Given the description of an element on the screen output the (x, y) to click on. 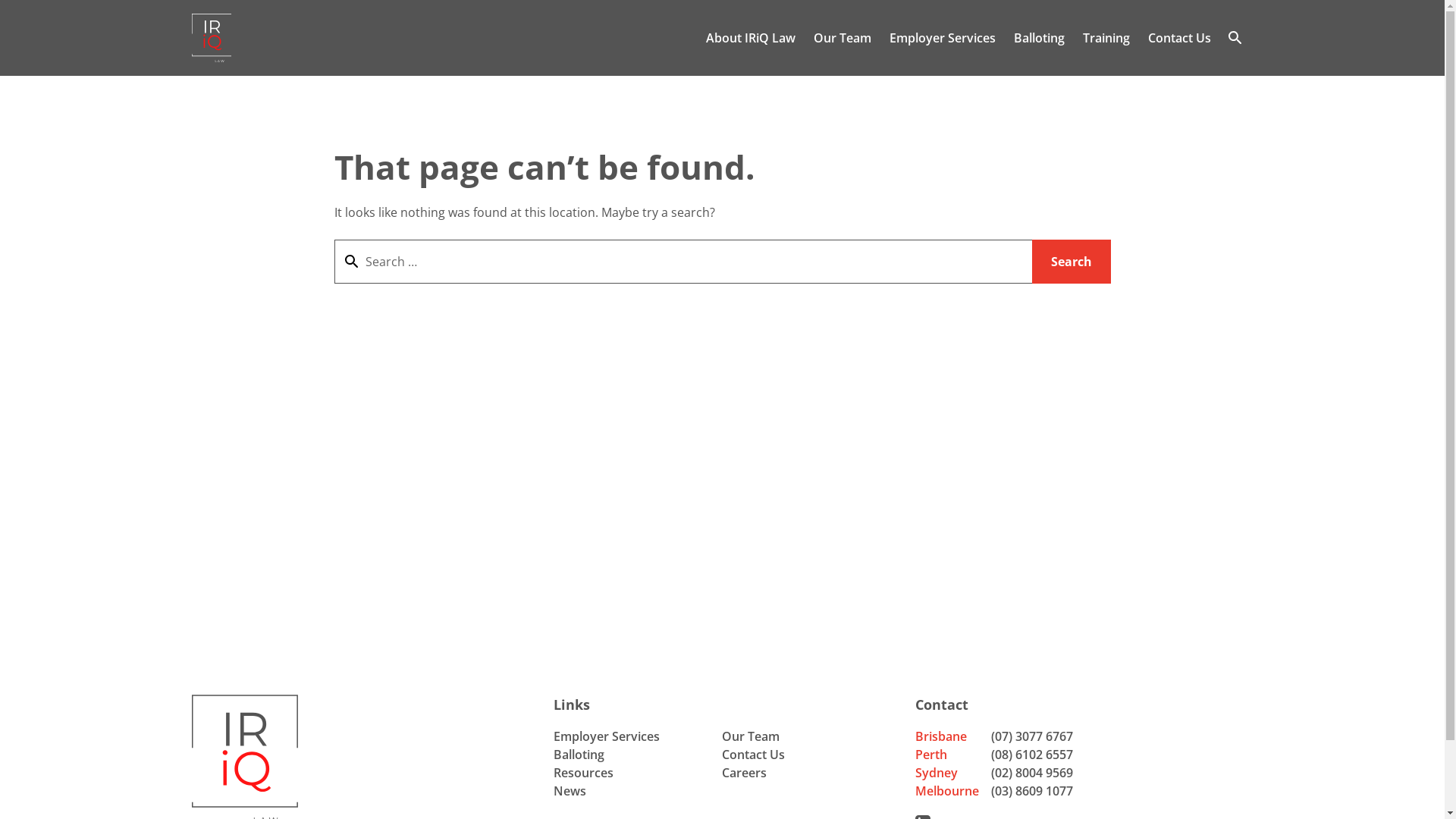
Training Element type: text (1105, 37)
Careers Element type: text (743, 772)
Our Team Element type: text (750, 736)
News Element type: text (569, 790)
Employer Services Element type: text (606, 736)
Balloting Element type: text (1038, 37)
Search Element type: text (1070, 261)
Our Team Element type: text (841, 37)
Employer Services Element type: text (941, 37)
About IRiQ Law Element type: text (749, 37)
Contact Us Element type: text (1179, 37)
Contact Us Element type: text (752, 754)
(02) 8004 9569 Element type: text (1032, 772)
(03) 8609 1077 Element type: text (1032, 790)
Open search Element type: text (1234, 37)
(08) 6102 6557 Element type: text (1032, 754)
(07) 3077 6767 Element type: text (1032, 736)
Search for: Element type: hover (682, 261)
Resources Element type: text (583, 772)
Balloting Element type: text (578, 754)
